Given the description of an element on the screen output the (x, y) to click on. 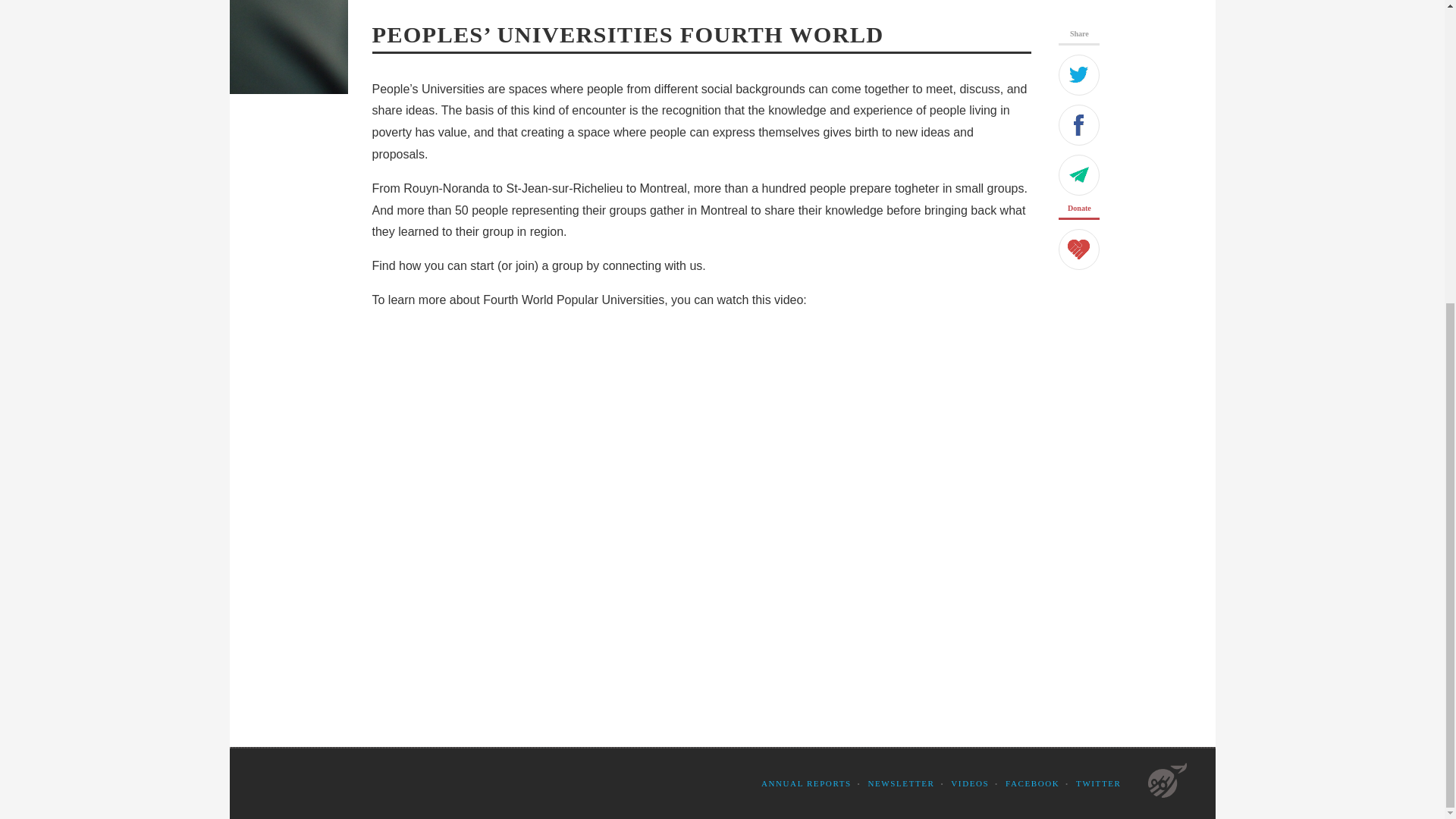
Send by email (1078, 174)
Twitter (1078, 74)
Facebook (1078, 124)
